Given the description of an element on the screen output the (x, y) to click on. 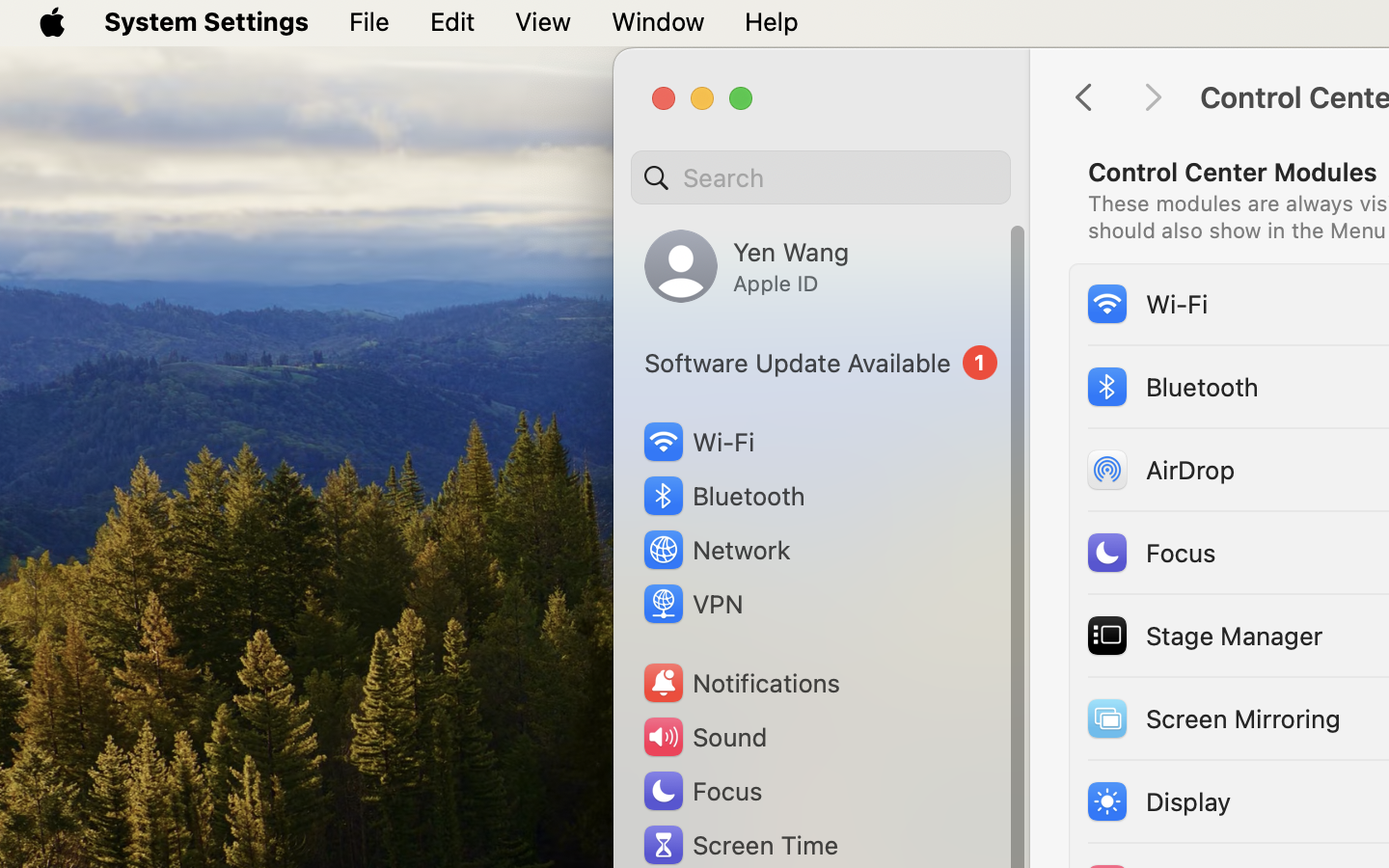
Sound Element type: AXStaticText (703, 736)
Screen Mirroring Element type: AXStaticText (1212, 717)
Wi‑Fi Element type: AXStaticText (1145, 302)
Stage Manager Element type: AXStaticText (1203, 634)
AirDrop Element type: AXStaticText (1159, 468)
